Given the description of an element on the screen output the (x, y) to click on. 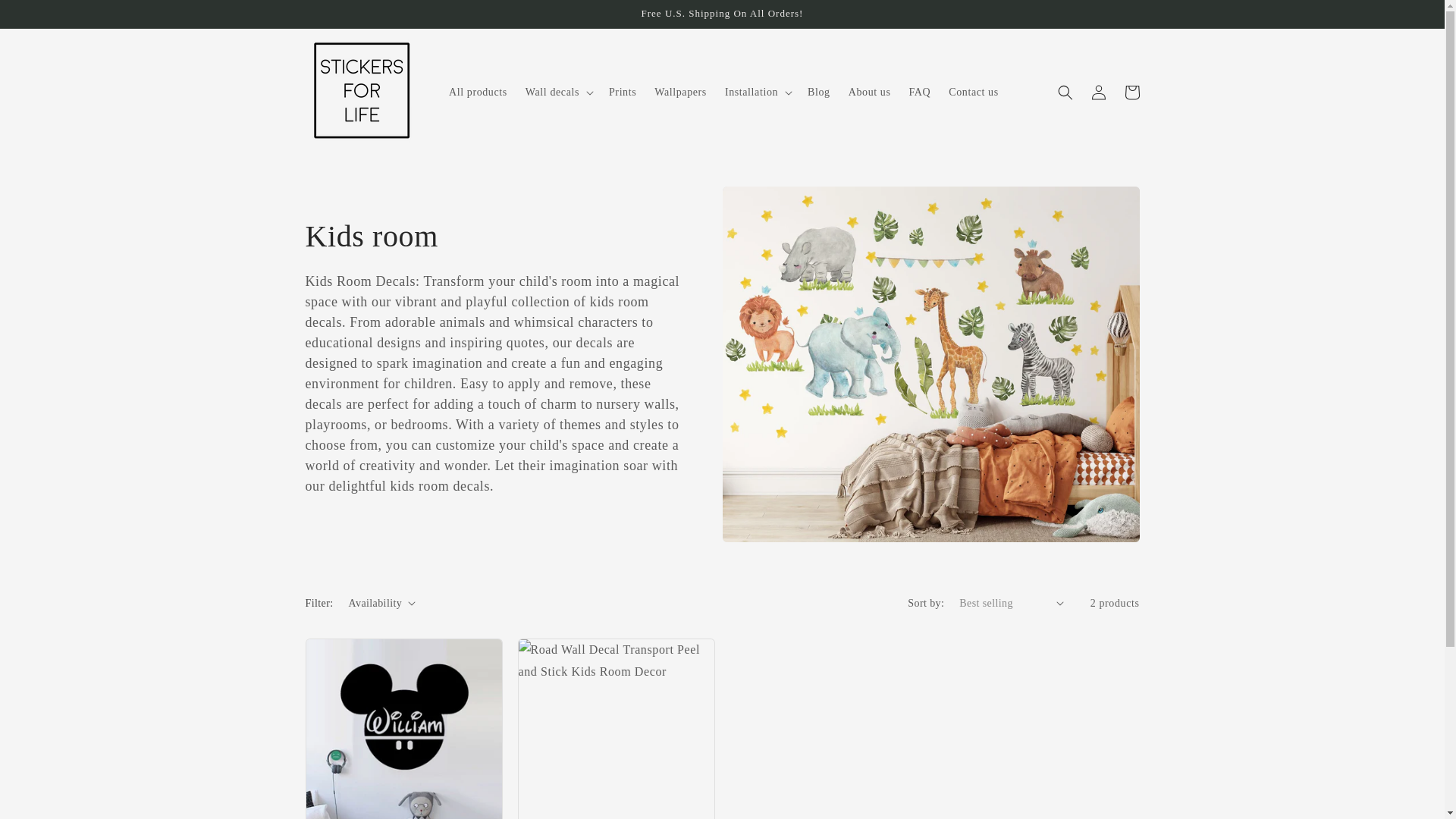
Skip to content (45, 17)
Wallpapers (680, 92)
Prints (622, 92)
Blog (818, 92)
All products (477, 92)
